Given the description of an element on the screen output the (x, y) to click on. 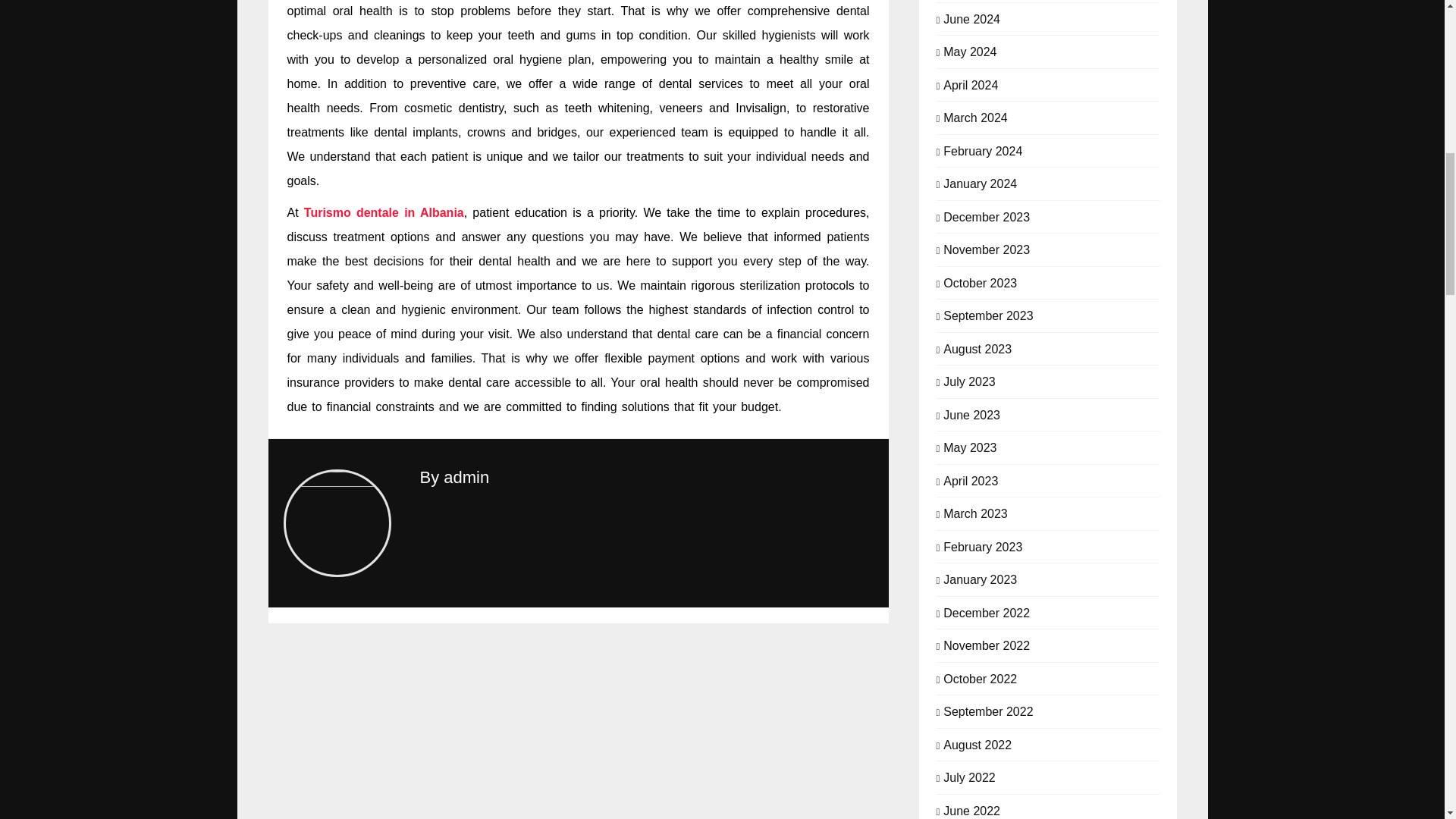
September 2022 (987, 710)
April 2024 (970, 83)
September 2023 (987, 314)
January 2023 (979, 578)
April 2023 (970, 478)
March 2023 (975, 512)
December 2023 (986, 215)
June 2022 (971, 809)
May 2024 (969, 50)
By admin (454, 476)
August 2022 (977, 743)
May 2023 (969, 446)
February 2024 (982, 150)
January 2024 (979, 182)
November 2022 (986, 644)
